Given the description of an element on the screen output the (x, y) to click on. 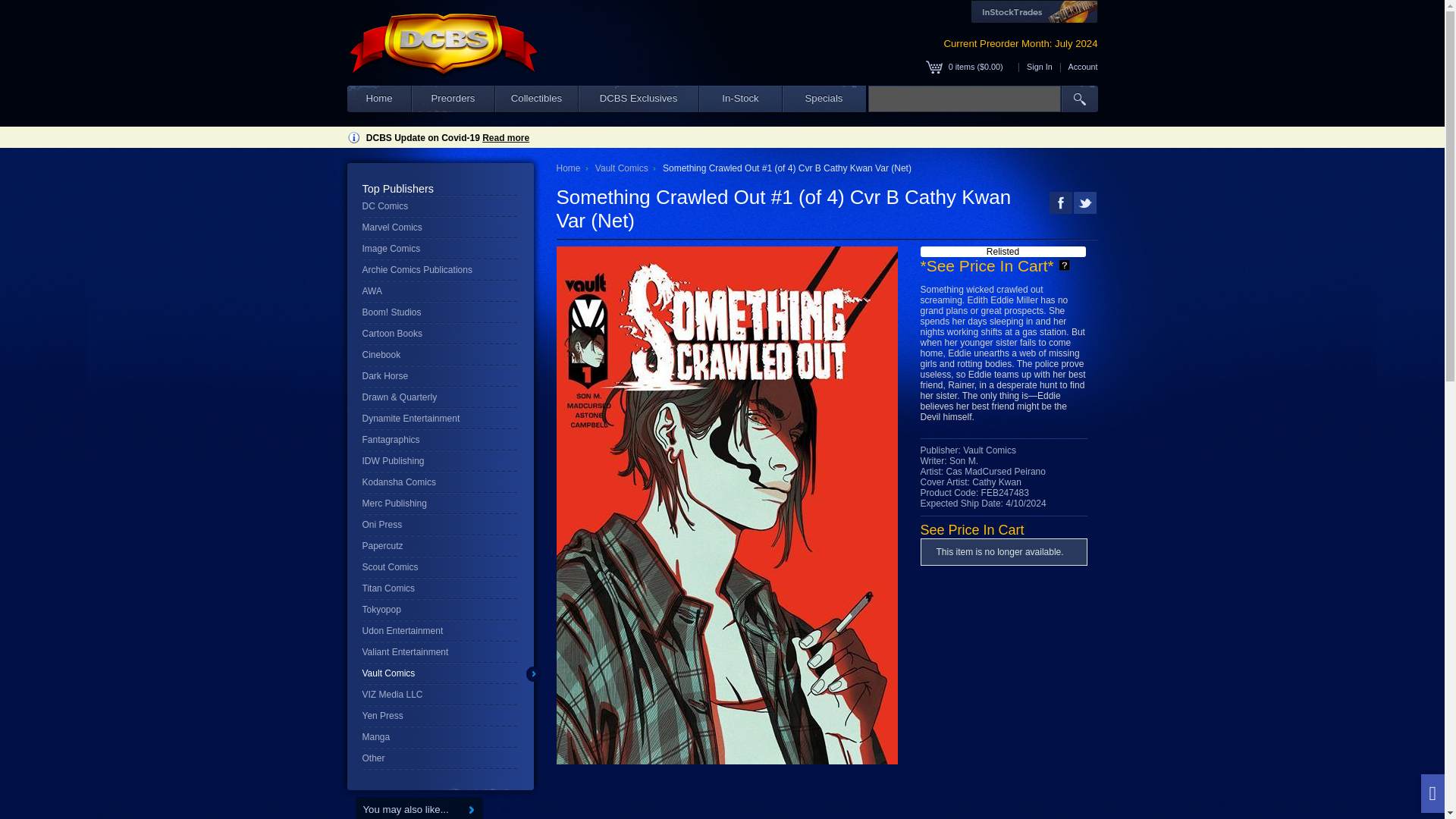
Home (379, 99)
Sign In (1039, 66)
Account (1082, 66)
Preorders (452, 99)
InStockTrades (1034, 12)
What's this? (1064, 265)
